Given the description of an element on the screen output the (x, y) to click on. 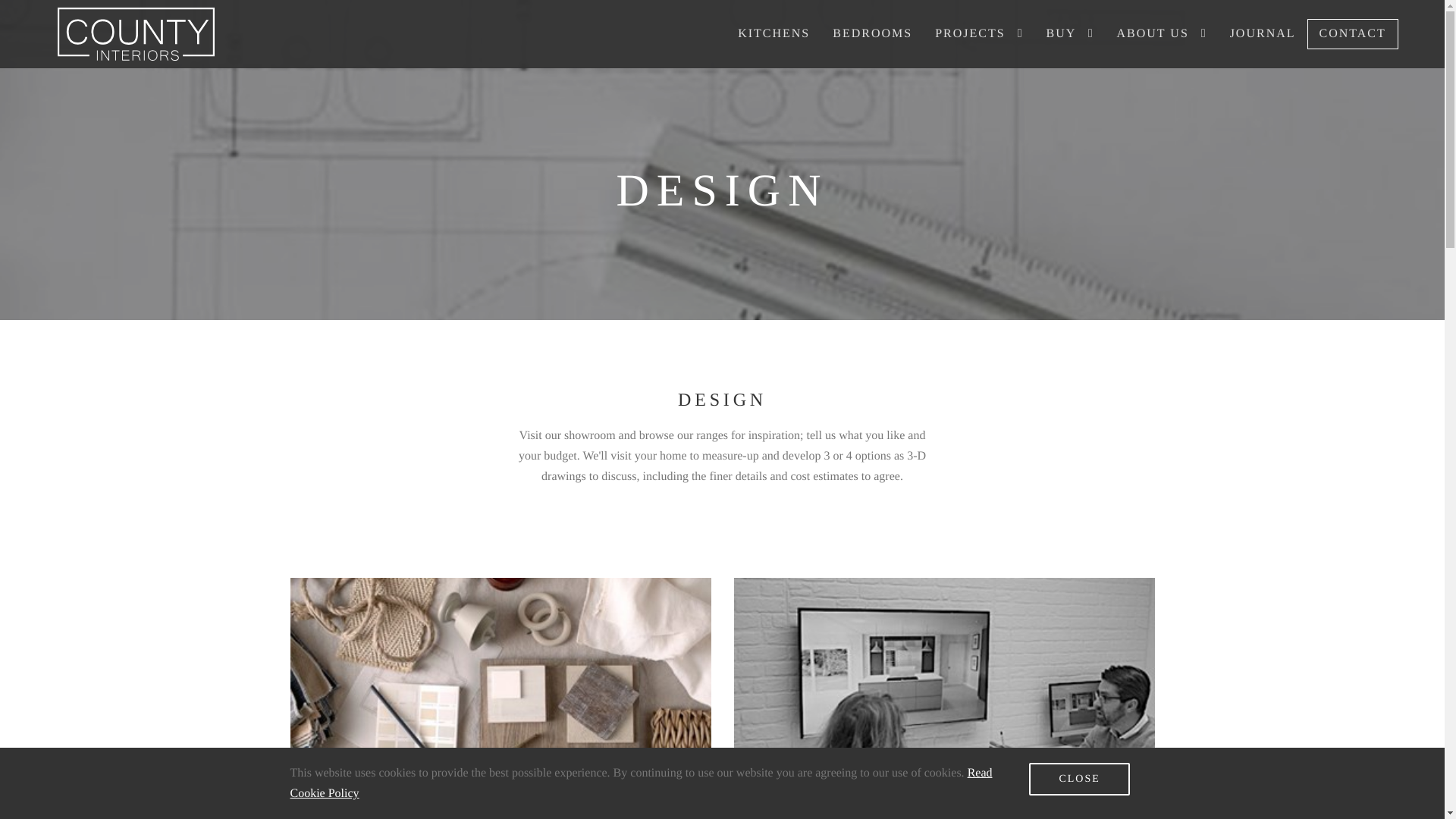
Read Cookie Policy (640, 783)
CONTACT (1352, 33)
PROJECTS (978, 33)
ABOUT US (1161, 33)
JOURNAL (1262, 33)
KITCHENS (773, 33)
BUY (1069, 33)
CLOSE (1079, 778)
BEDROOMS (872, 33)
